Given the description of an element on the screen output the (x, y) to click on. 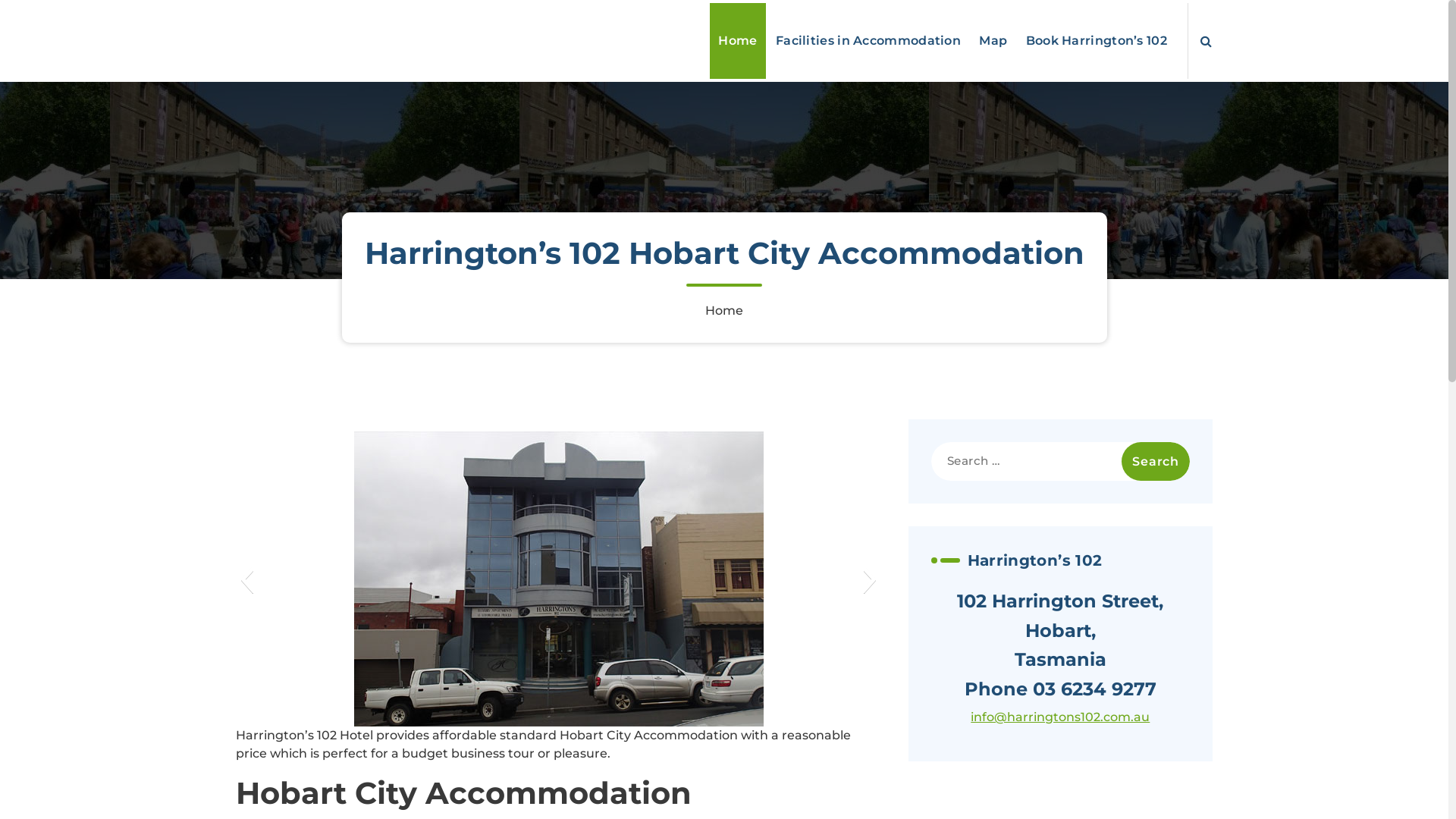
Facilities in Accommodation Element type: text (868, 40)
Search Element type: text (1155, 461)
Map Element type: text (992, 40)
Harrington's 102 Hotel Element type: text (309, 27)
info@harringtons102.com.au Element type: text (1059, 716)
Home Element type: text (724, 310)
Home Element type: text (737, 40)
